Given the description of an element on the screen output the (x, y) to click on. 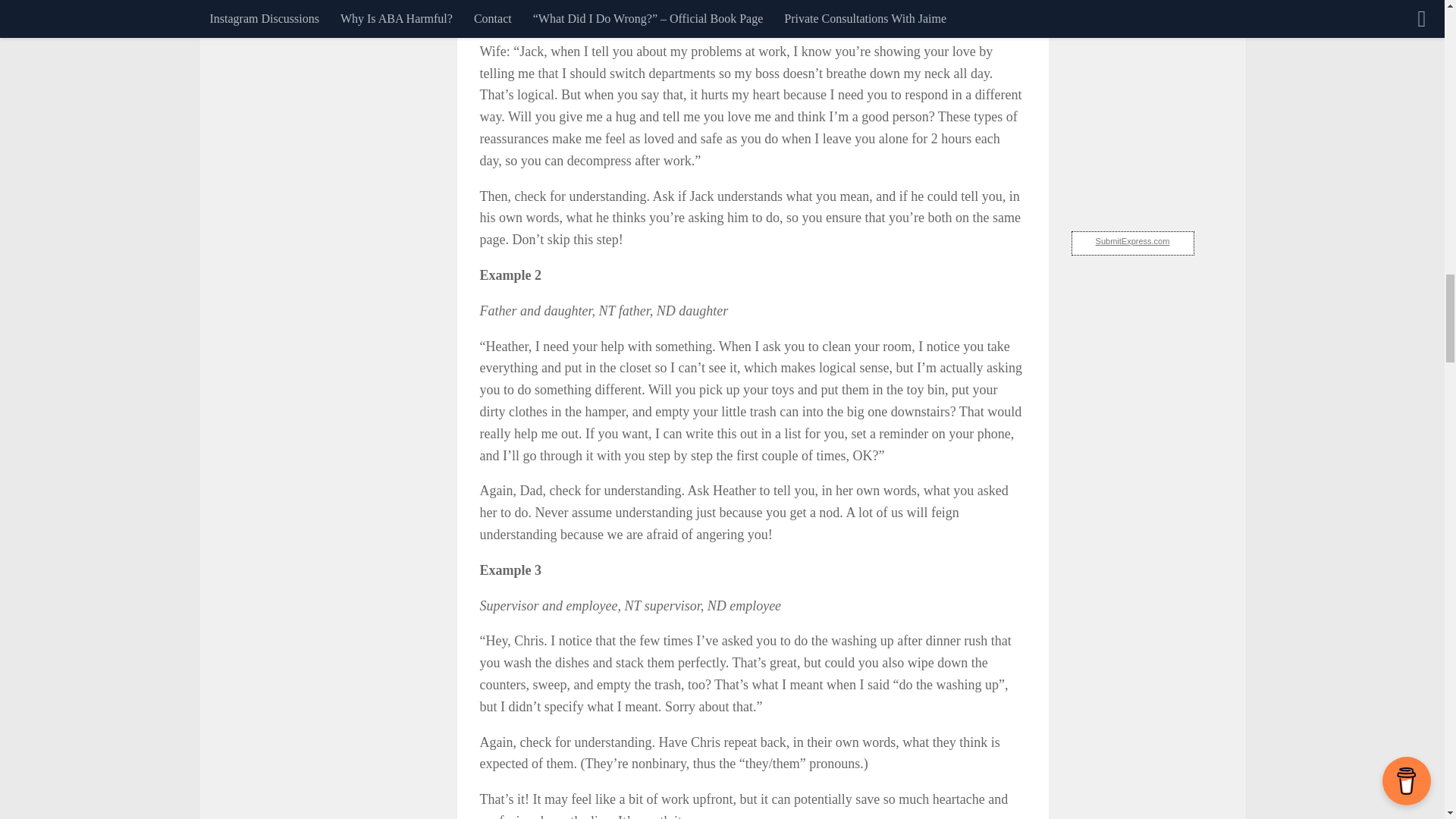
SubmitExpress.com (1133, 240)
